Given the description of an element on the screen output the (x, y) to click on. 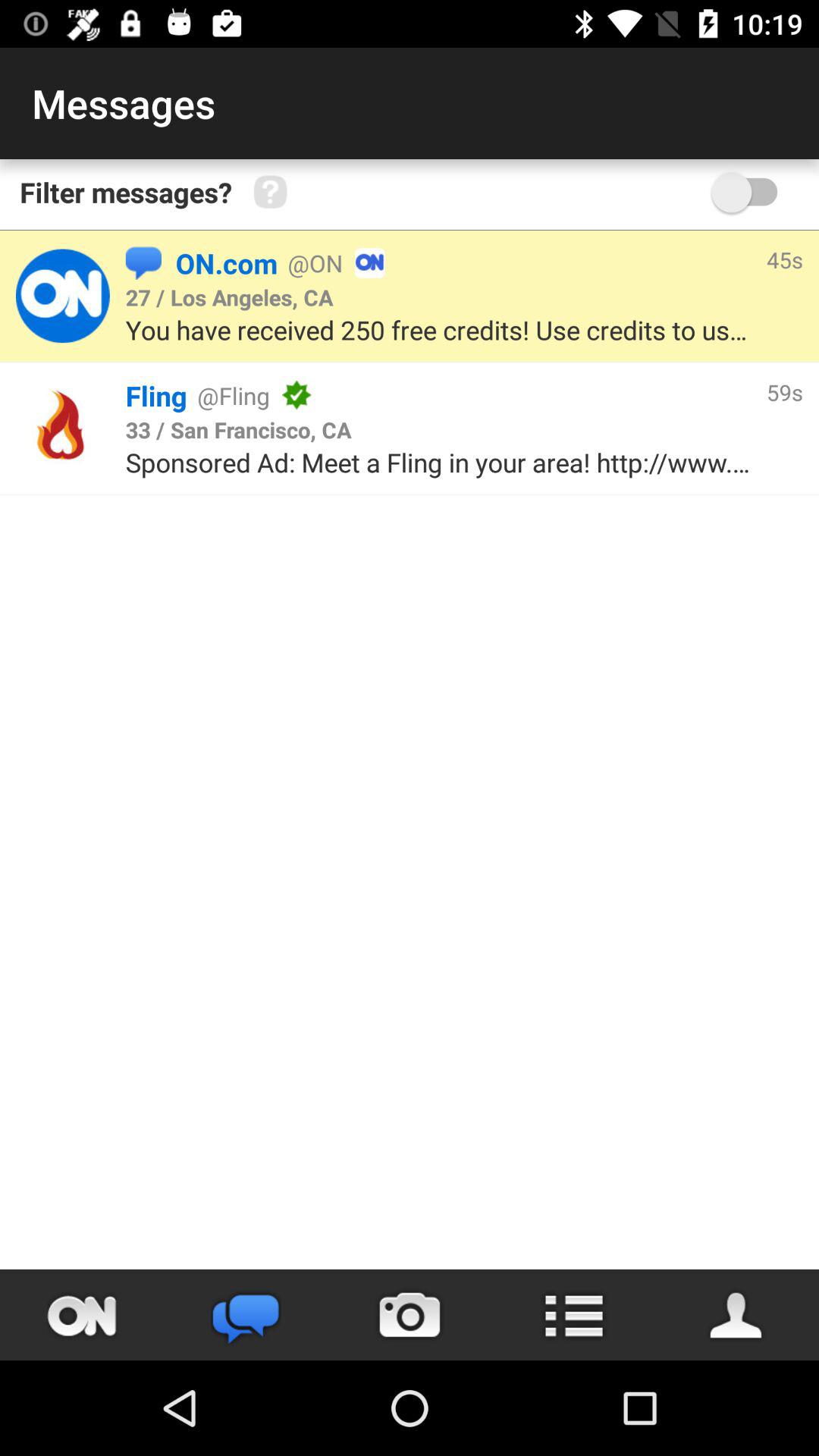
choose the item above the you have received icon (784, 259)
